Given the description of an element on the screen output the (x, y) to click on. 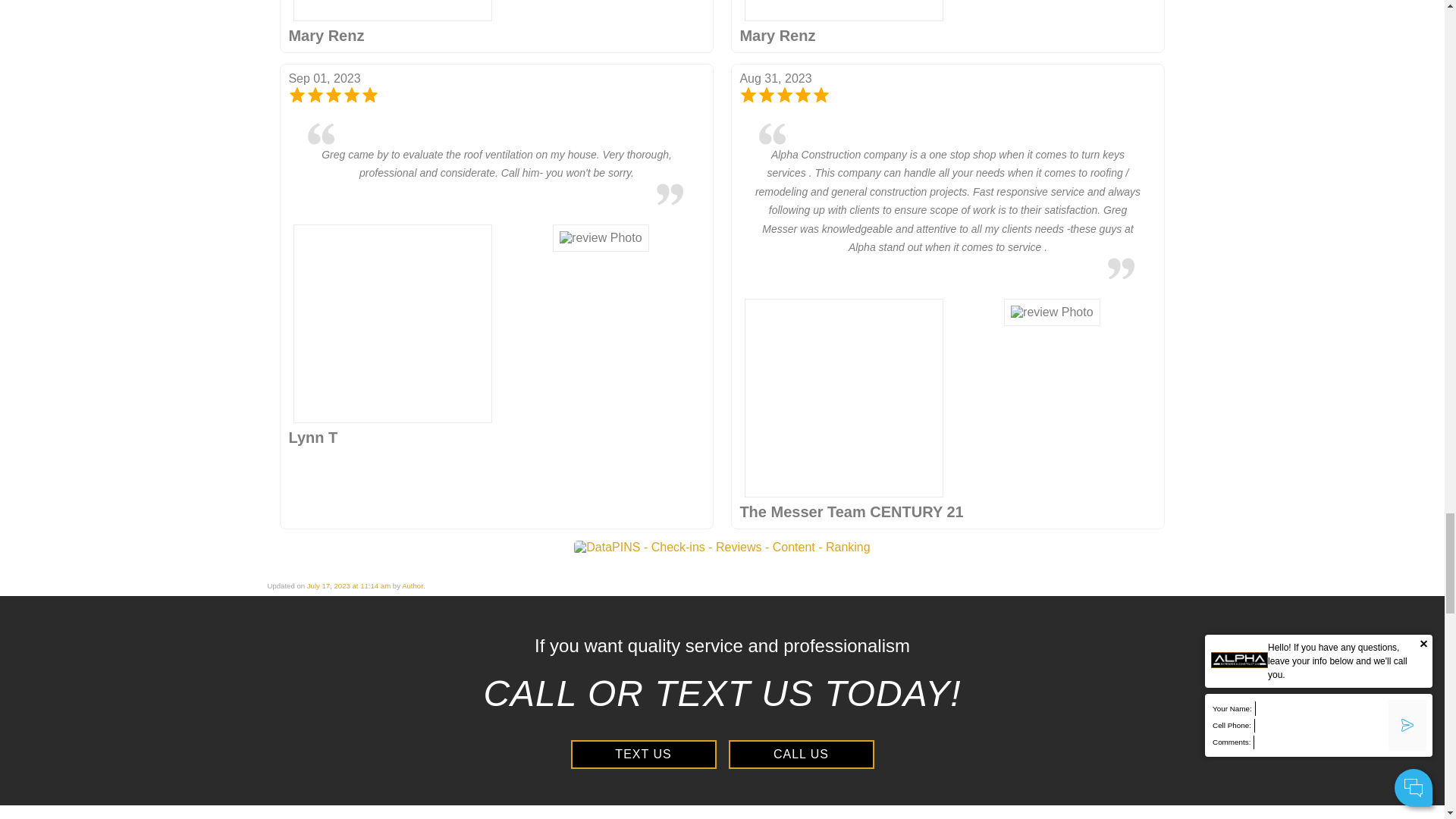
10:56 AM (348, 585)
View all posts by Author (412, 585)
DataPINS - Check-ins - Reviews - Content - Ranking (721, 547)
